Given the description of an element on the screen output the (x, y) to click on. 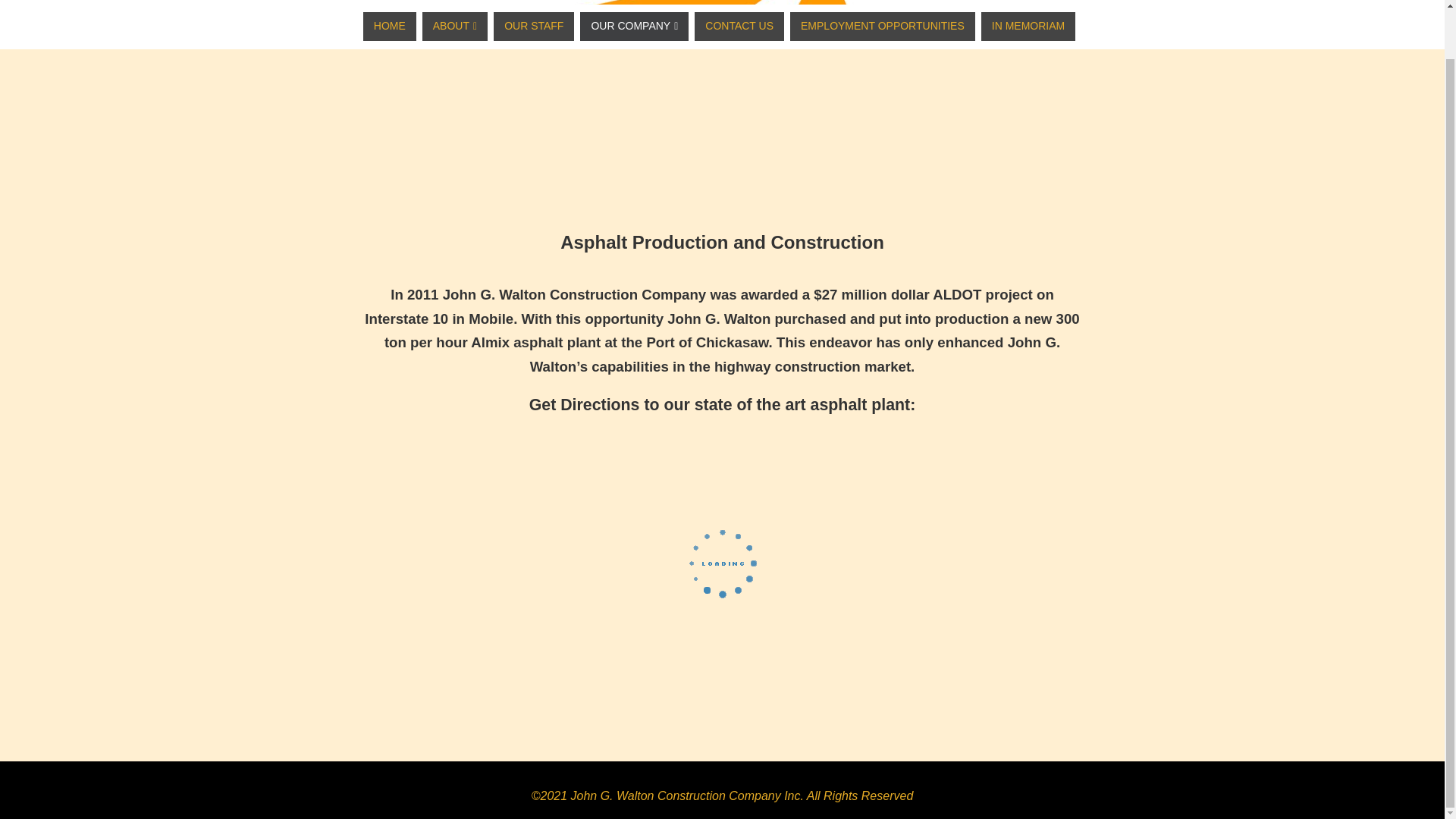
CONTACT US (739, 26)
OUR STAFF (533, 26)
John G. Walton Construction Company (756, 62)
ABOUT (454, 26)
IN MEMORIAM (1028, 26)
EMPLOYMENT OPPORTUNITIES (882, 26)
OUR COMPANY (633, 26)
HOME (389, 26)
